Given the description of an element on the screen output the (x, y) to click on. 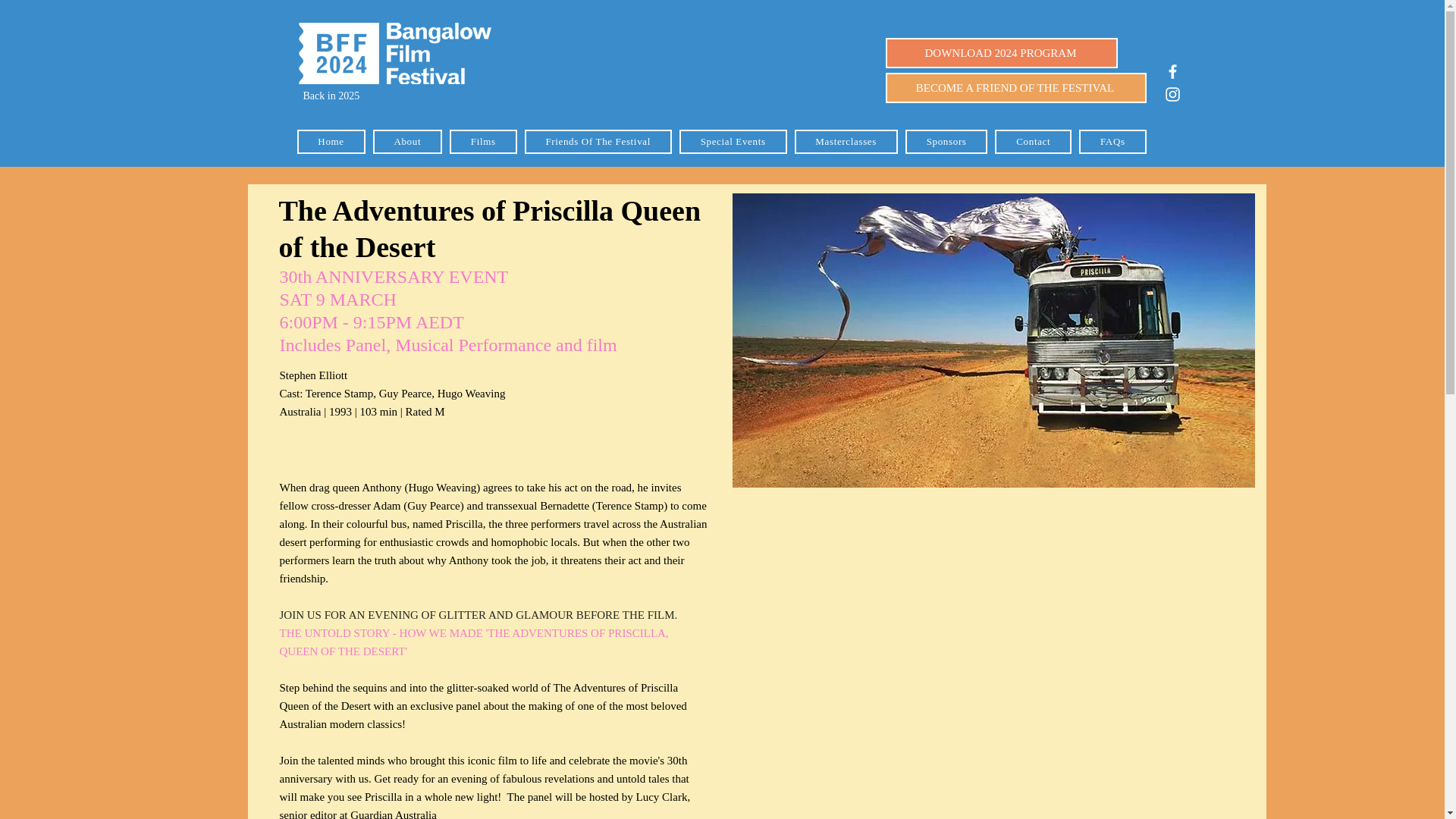
Friends Of The Festival (597, 141)
Home (331, 141)
Special Events (733, 141)
About (407, 141)
DOWNLOAD 2024 PROGRAM (1001, 52)
Films (482, 141)
BECOME A FRIEND OF THE FESTIVAL (1016, 87)
